Given the description of an element on the screen output the (x, y) to click on. 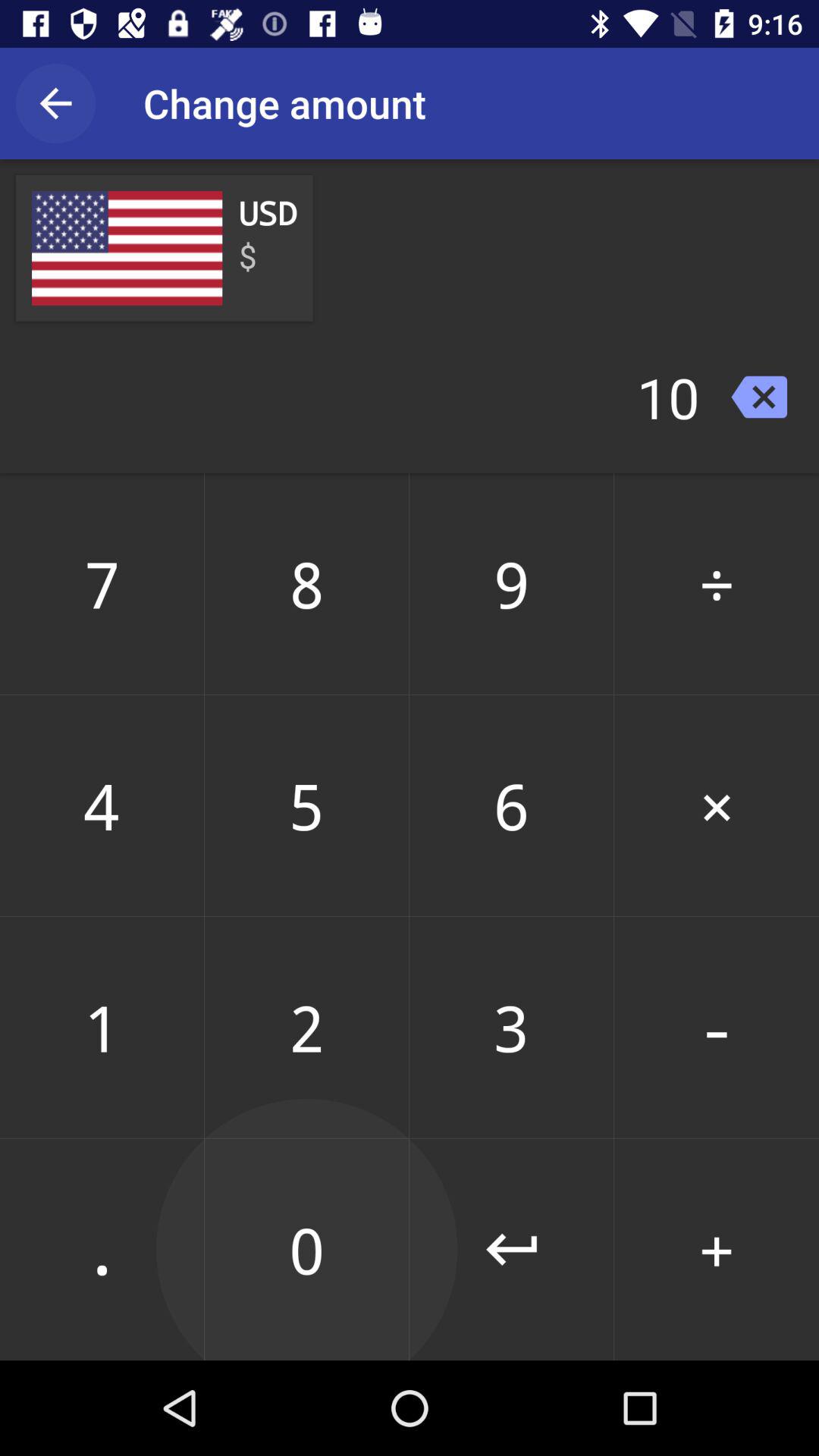
click the icon below 6 item (716, 1027)
